Given the description of an element on the screen output the (x, y) to click on. 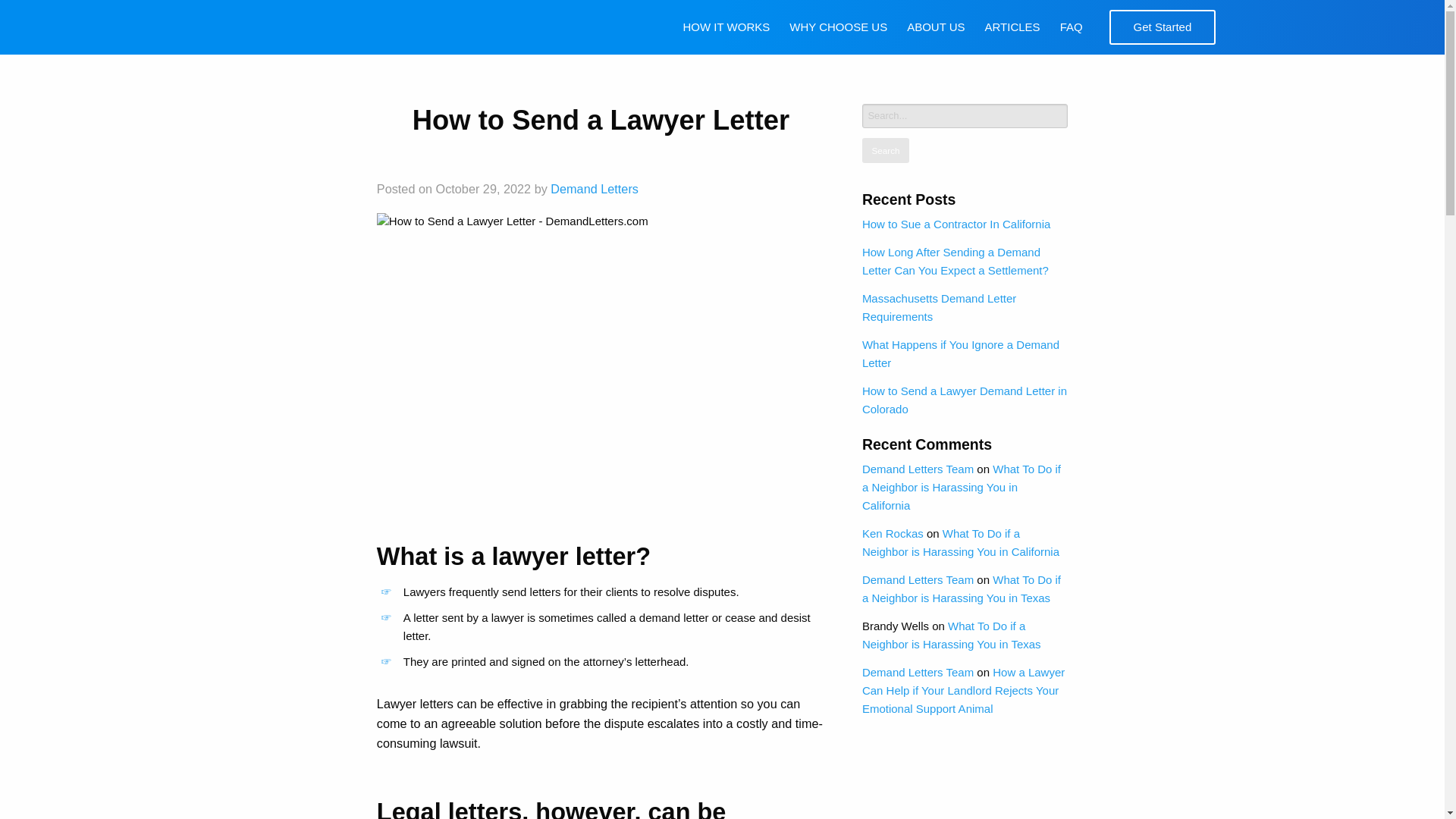
Search (884, 150)
Search (884, 150)
Demand Letters Team (917, 468)
Search (884, 150)
ABOUT US (935, 26)
FAQ (1071, 26)
Posts by Demand Letters (594, 188)
How to Send a Lawyer Demand Letter in Colorado (964, 399)
Get Started (1161, 27)
